Given the description of an element on the screen output the (x, y) to click on. 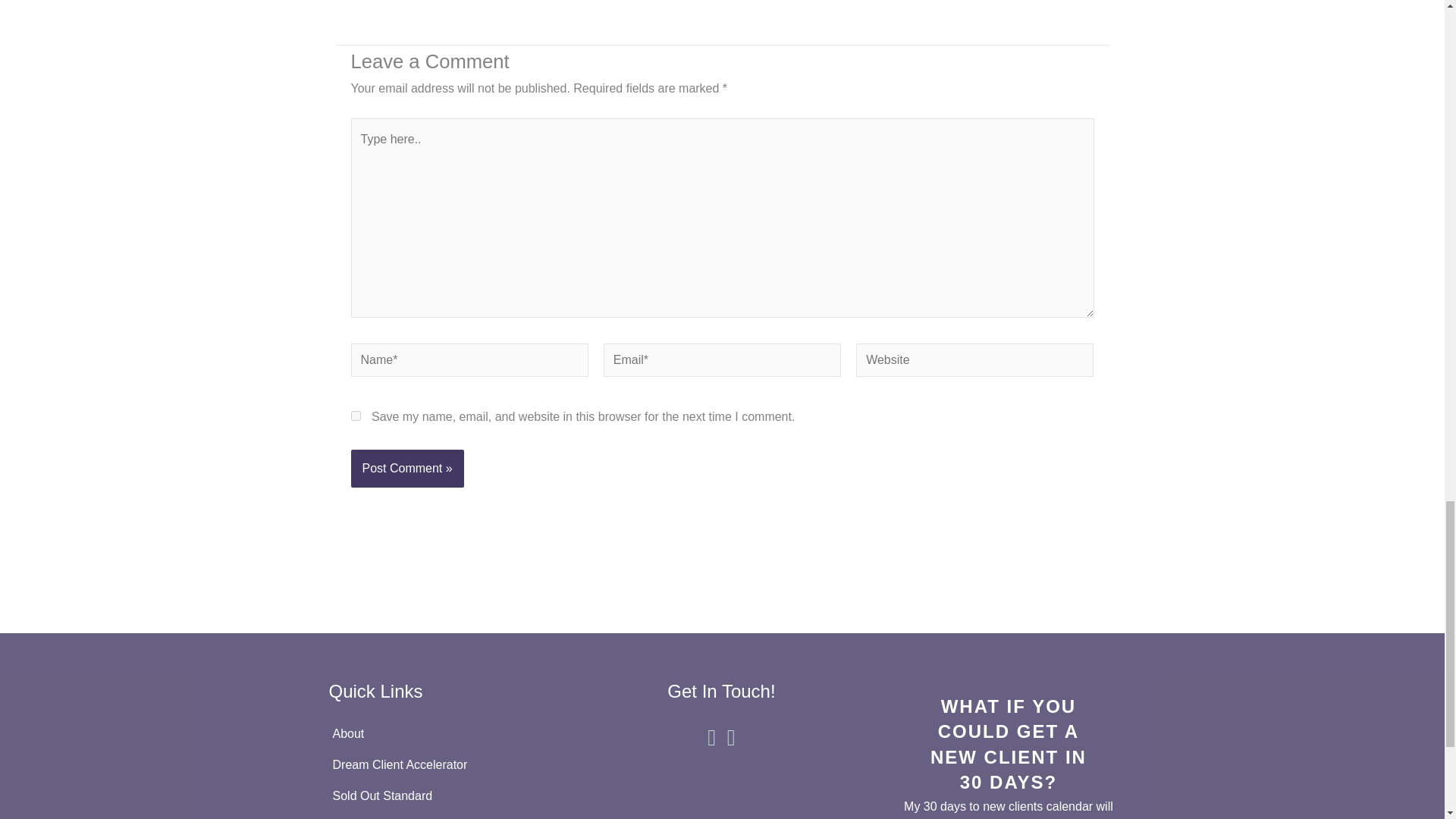
yes (354, 415)
Sold Out Standard (435, 796)
Dream Client Accelerator (435, 765)
About (435, 734)
Podcast (435, 815)
